Given the description of an element on the screen output the (x, y) to click on. 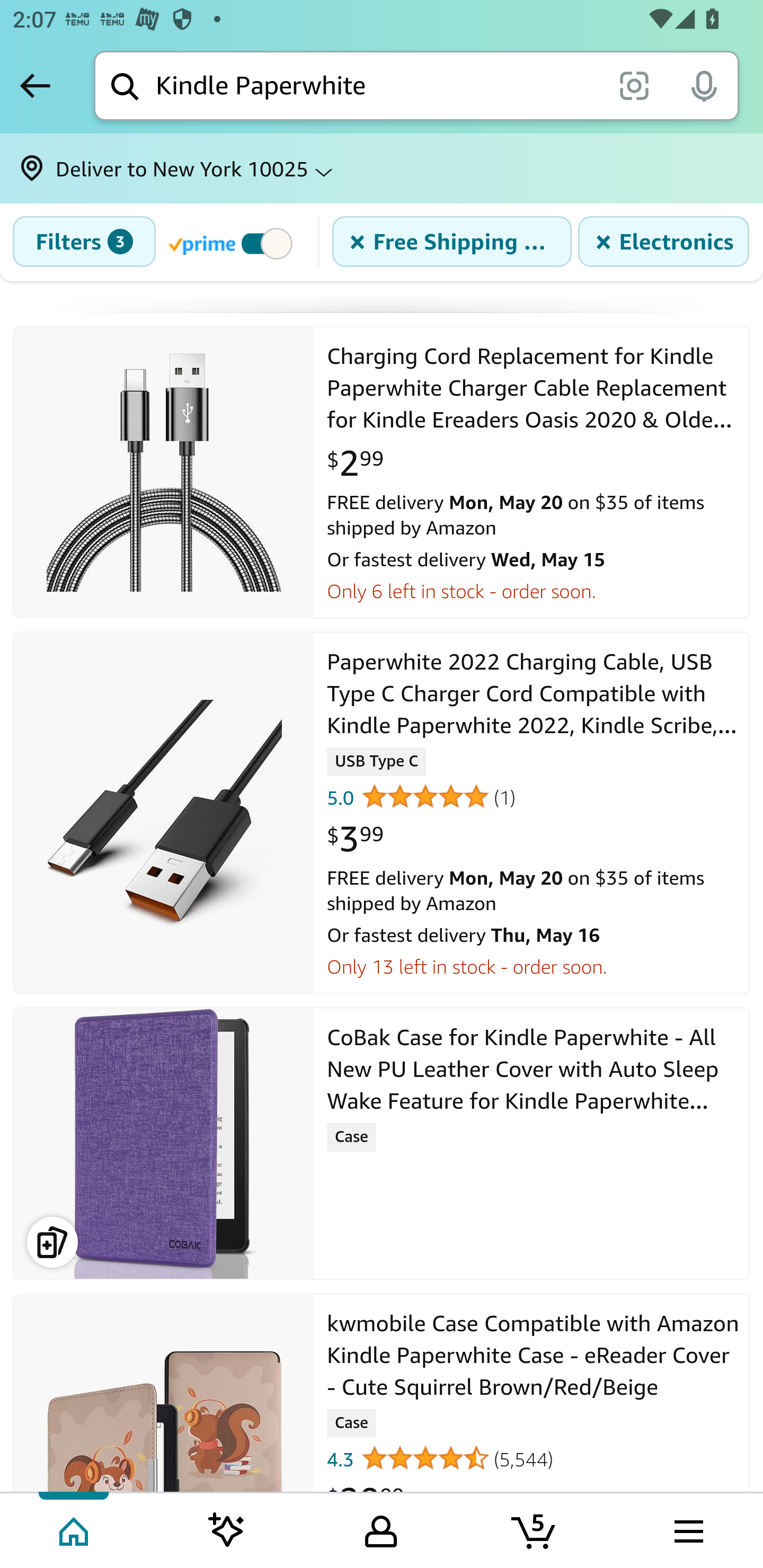
Back (35, 85)
scan it (633, 85)
Deliver to New York 10025 ⌵ (381, 168)
Filters 3 (83, 241)
Toggle to filter by Prime products Prime Eligible (233, 242)
× Electronics × Electronics (663, 241)
Home Tab 1 of 5 (75, 1529)
Inspire feed Tab 2 of 5 (227, 1529)
Your Amazon.com Tab 3 of 5 (380, 1529)
Cart 5 items Tab 4 of 5 5 (534, 1529)
Browse menu Tab 5 of 5 (687, 1529)
